Given the description of an element on the screen output the (x, y) to click on. 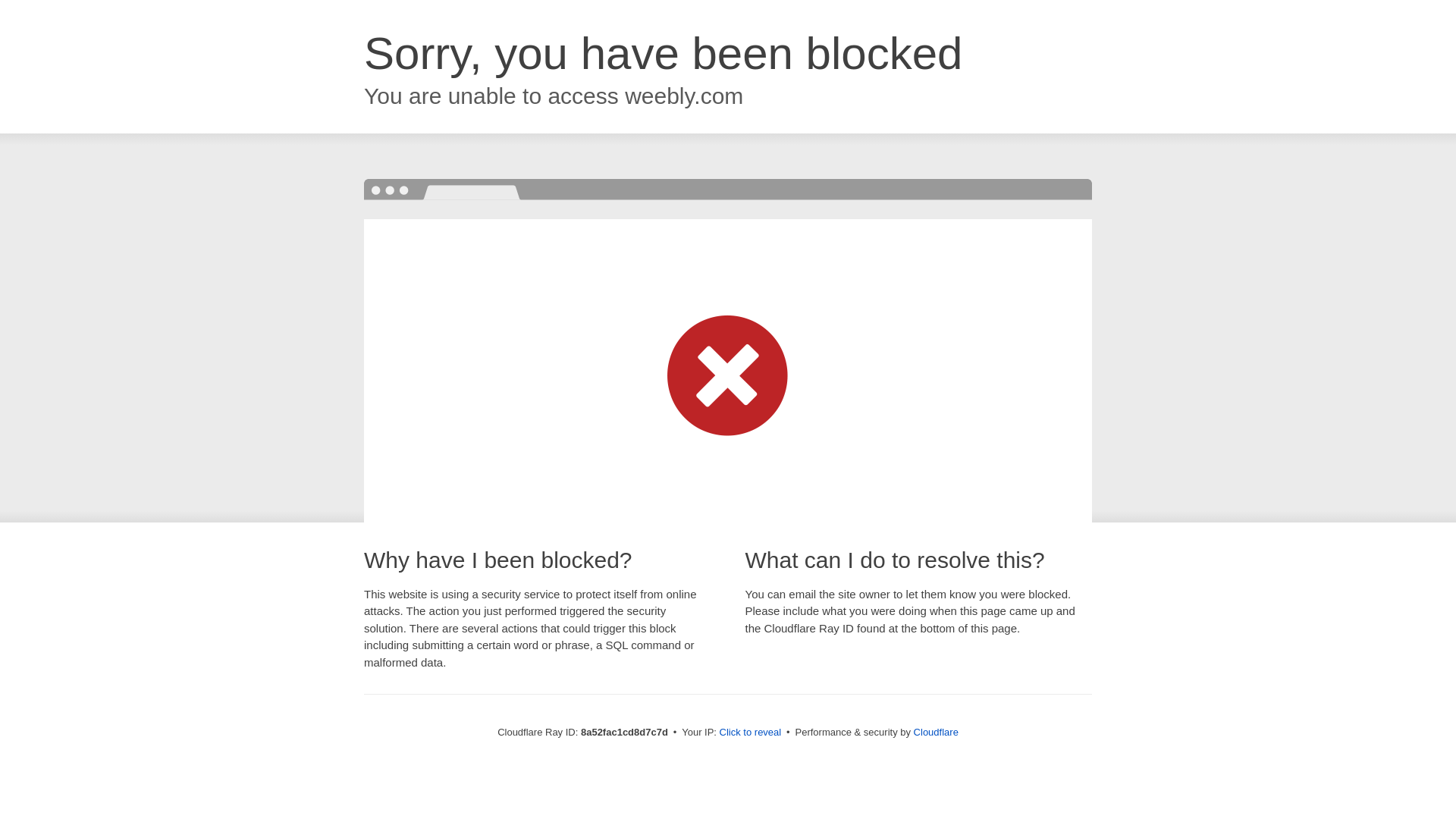
Click to reveal (750, 732)
Cloudflare (936, 731)
